Given the description of an element on the screen output the (x, y) to click on. 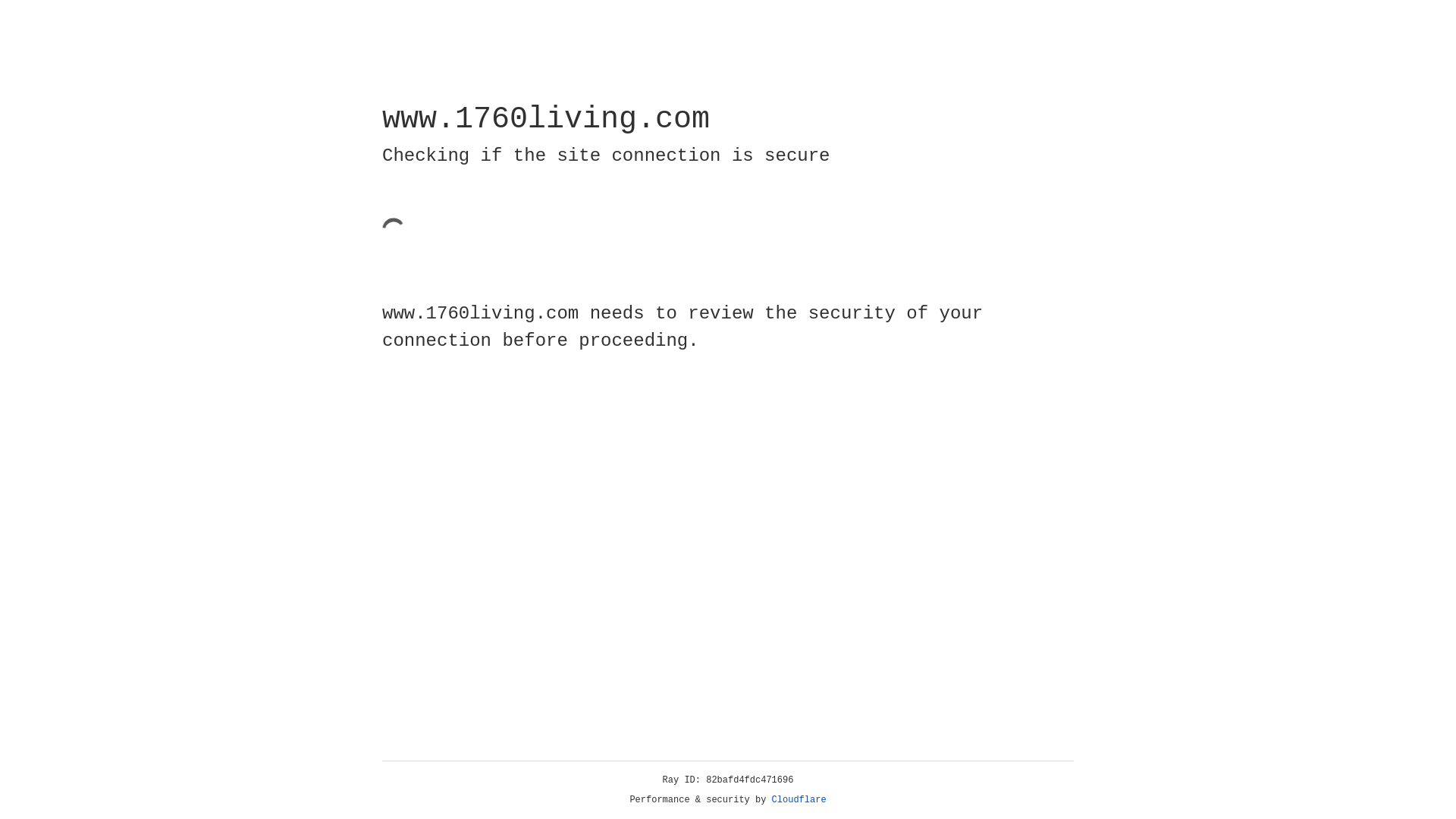
Cloudflare Element type: text (798, 799)
